Given the description of an element on the screen output the (x, y) to click on. 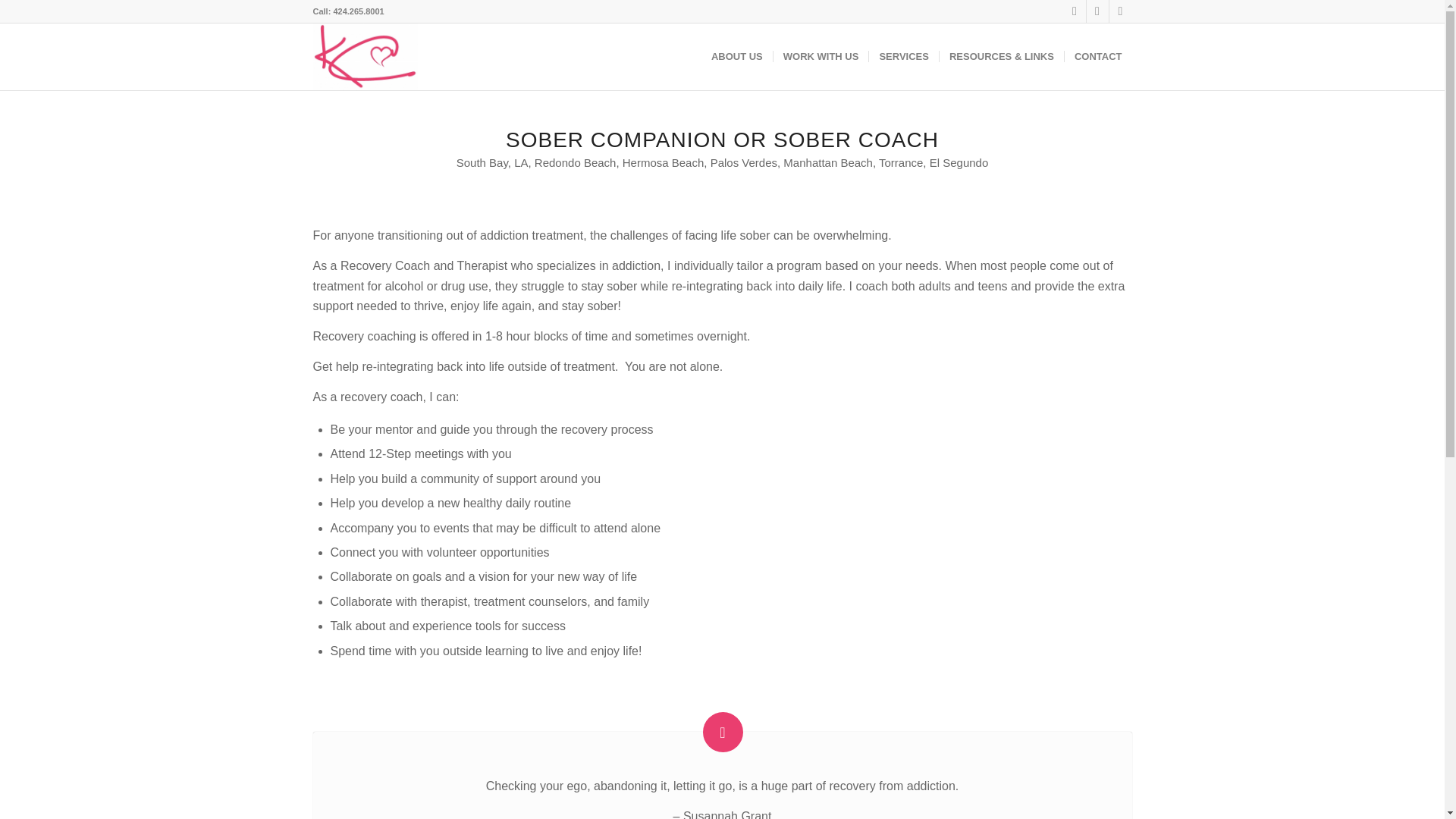
CONTACT (1098, 56)
SERVICES (903, 56)
Twitter (1097, 11)
Facebook (1073, 11)
Call: 424.265.8001 (348, 10)
ABOUT US (737, 56)
WORK WITH US (821, 56)
Instagram (1119, 11)
Contact Kyrss Castle (1098, 56)
